Given the description of an element on the screen output the (x, y) to click on. 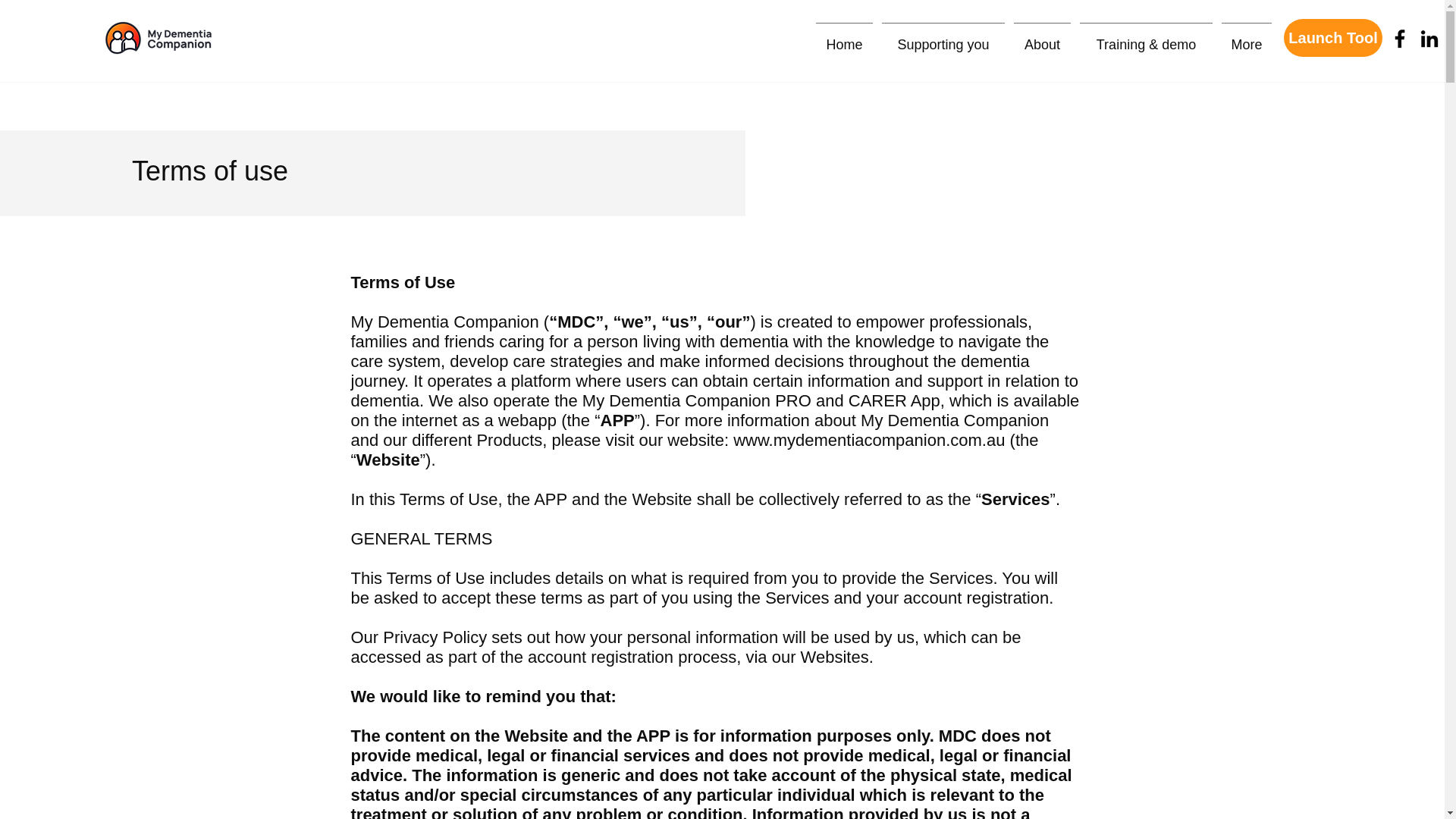
Home (843, 37)
Supporting you (943, 37)
www.mydementiacompanion.com.au (868, 439)
About (1042, 37)
Launch Tool (1332, 37)
